Given the description of an element on the screen output the (x, y) to click on. 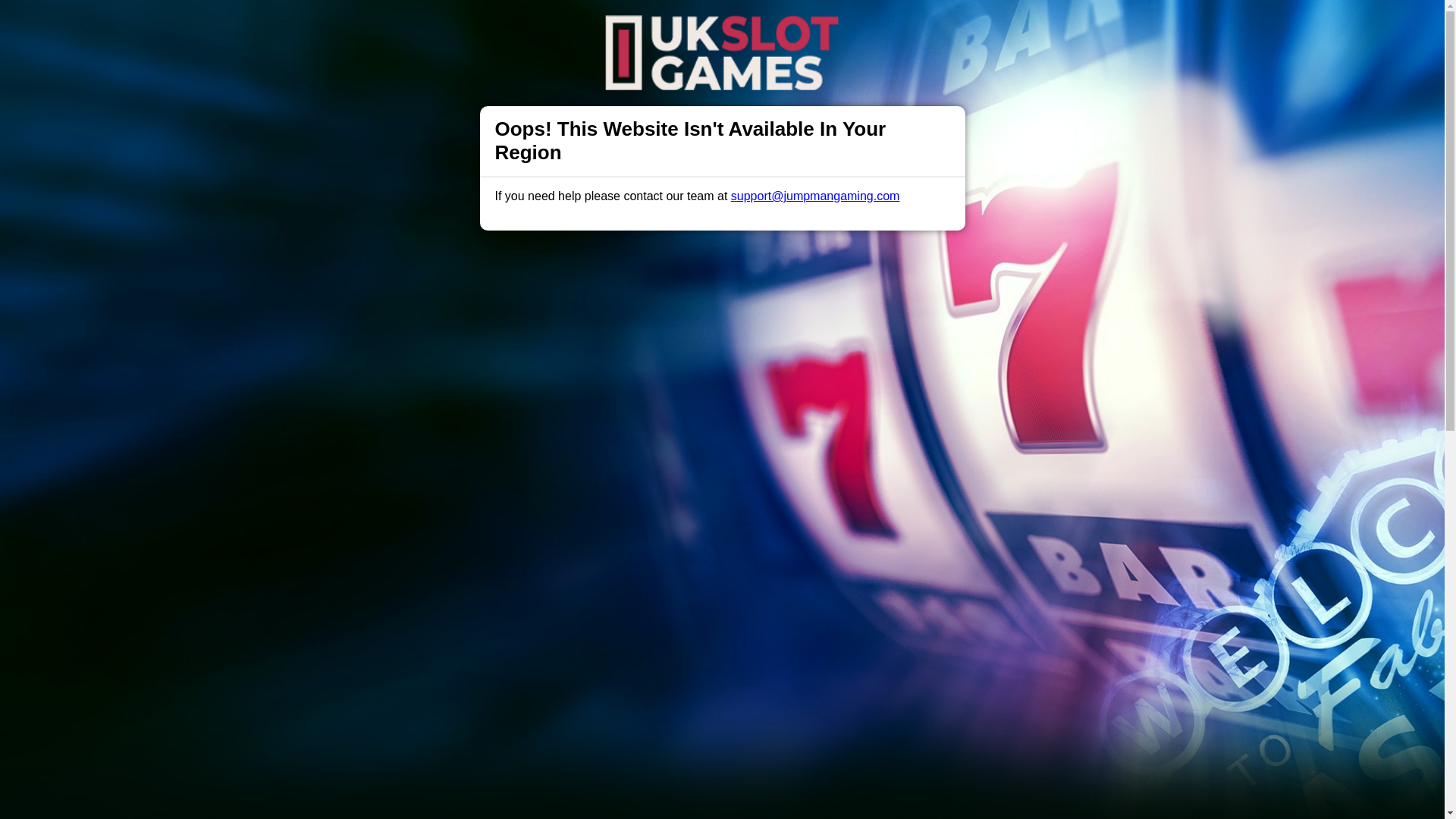
Trophies (500, 26)
Login (963, 26)
Slot Games (646, 26)
Promotions (568, 26)
Join Now (1054, 26)
online casino (665, 481)
